Given the description of an element on the screen output the (x, y) to click on. 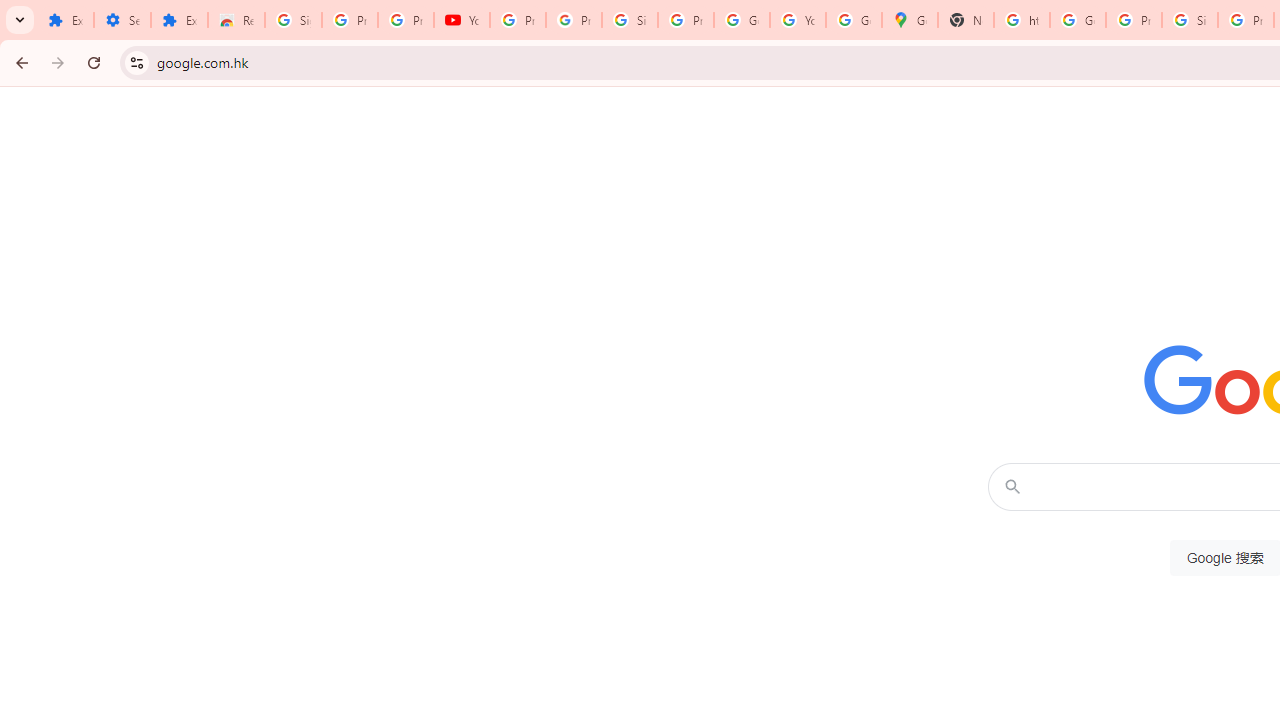
Sign in - Google Accounts (629, 20)
Extensions (65, 20)
YouTube (461, 20)
